Given the description of an element on the screen output the (x, y) to click on. 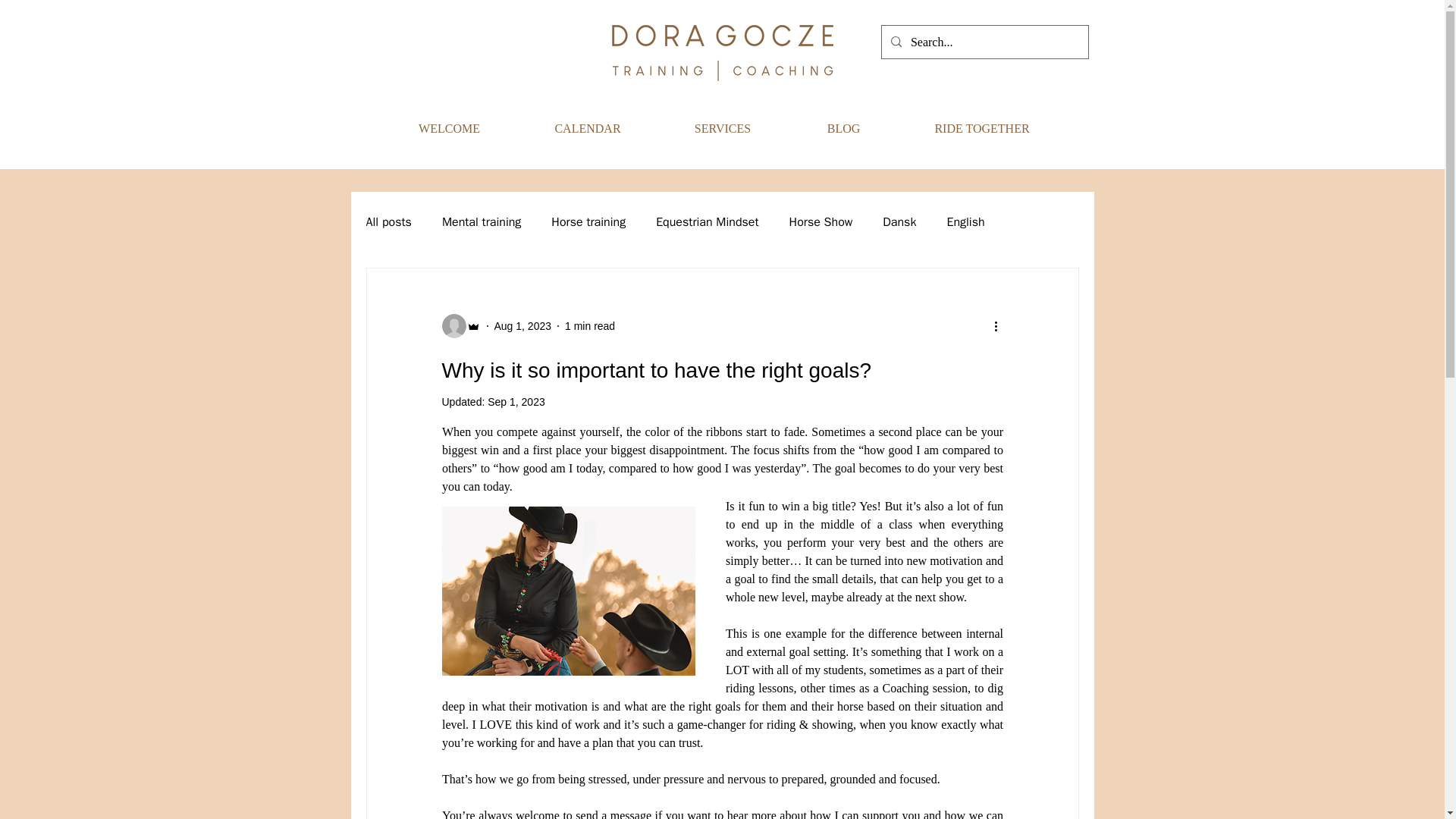
English (965, 221)
WELCOME (449, 128)
RIDE TOGETHER (982, 128)
CALENDAR (588, 128)
Mental training (481, 221)
BLOG (844, 128)
1 min read (589, 326)
Sep 1, 2023 (515, 401)
All posts (387, 221)
SERVICES (721, 128)
Dansk (898, 221)
Horse training (588, 221)
Aug 1, 2023 (523, 326)
Horse Show (821, 221)
Equestrian Mindset (707, 221)
